Given the description of an element on the screen output the (x, y) to click on. 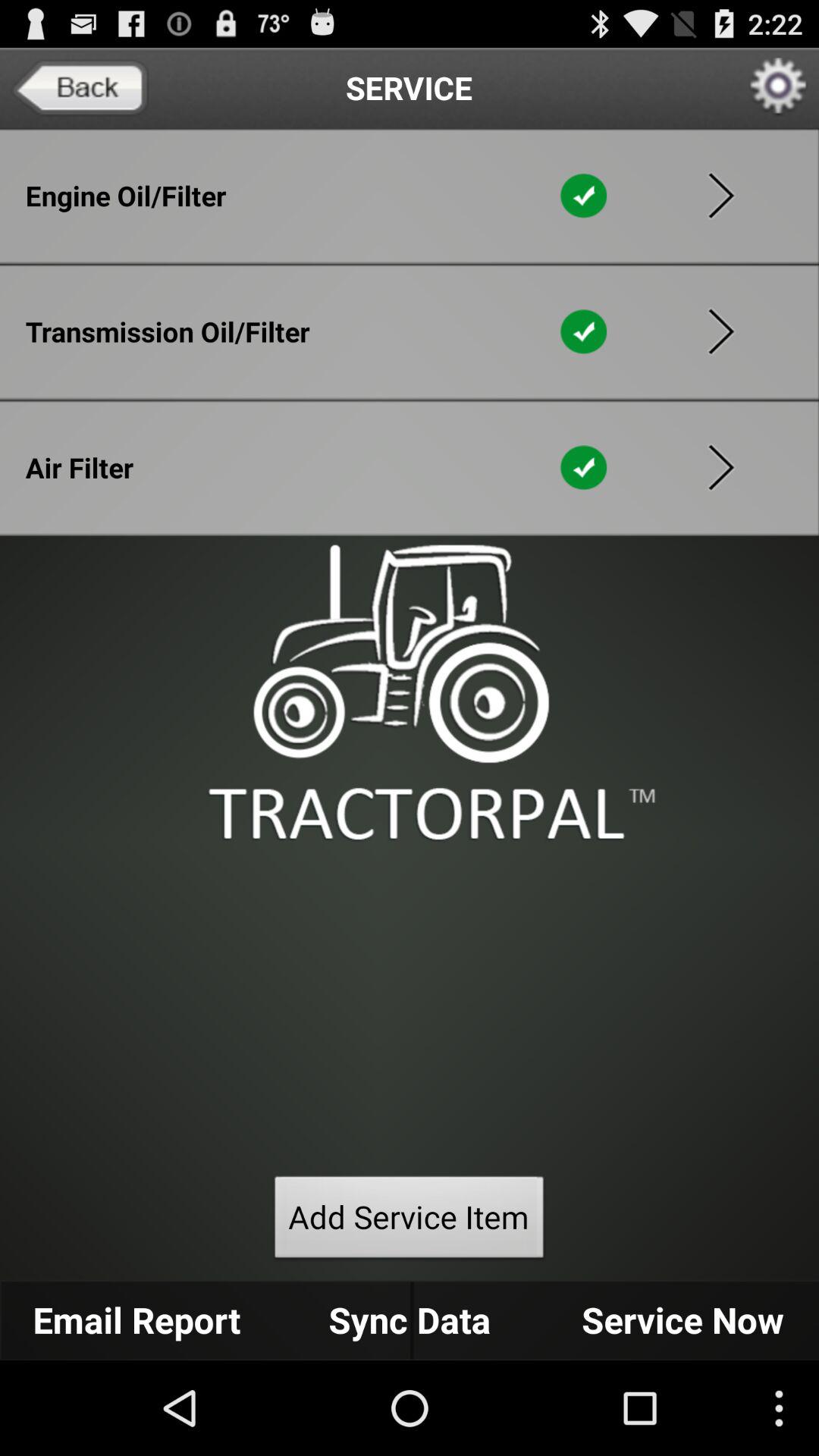
go back (79, 87)
